Given the description of an element on the screen output the (x, y) to click on. 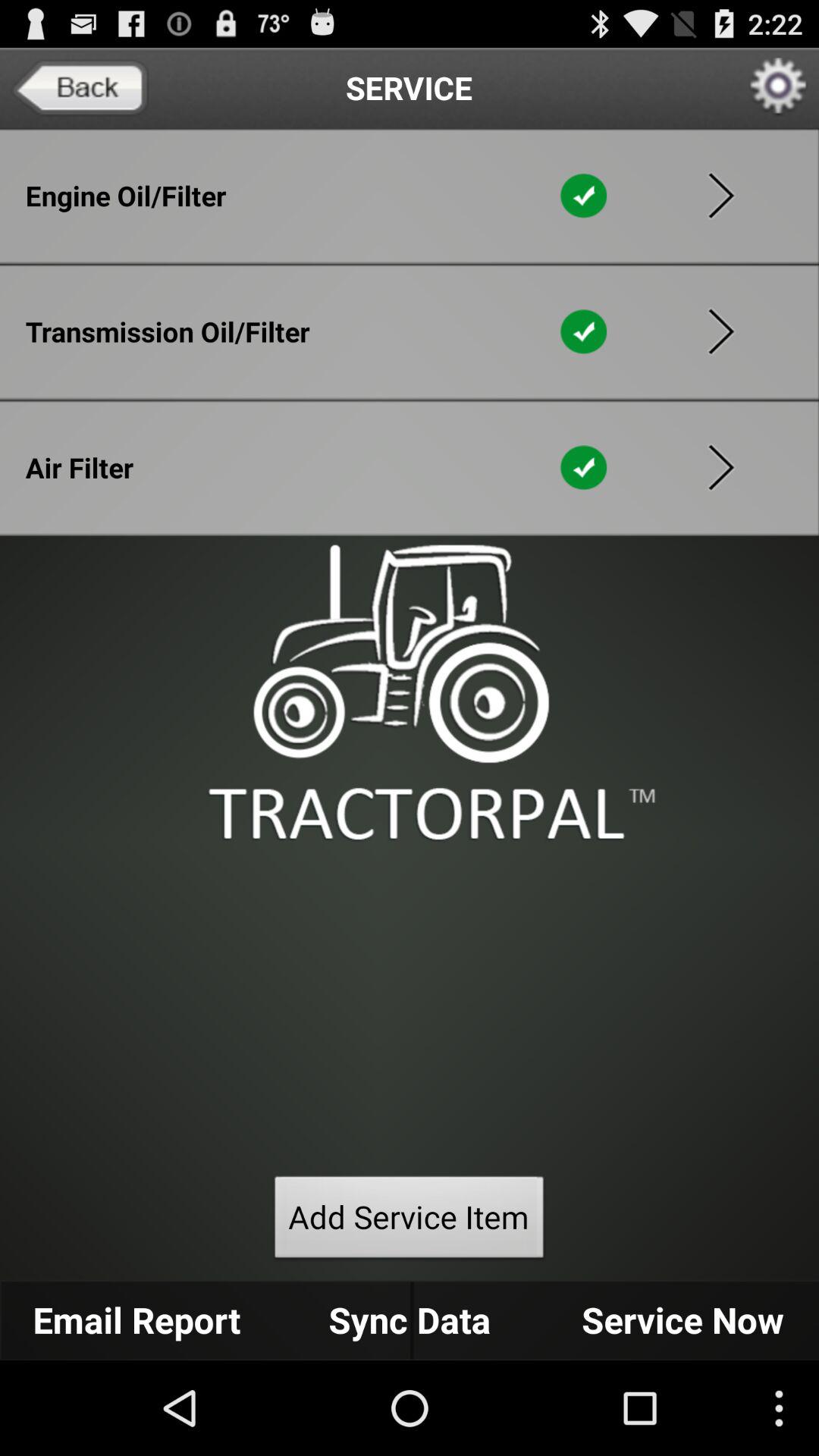
go back (79, 87)
